Given the description of an element on the screen output the (x, y) to click on. 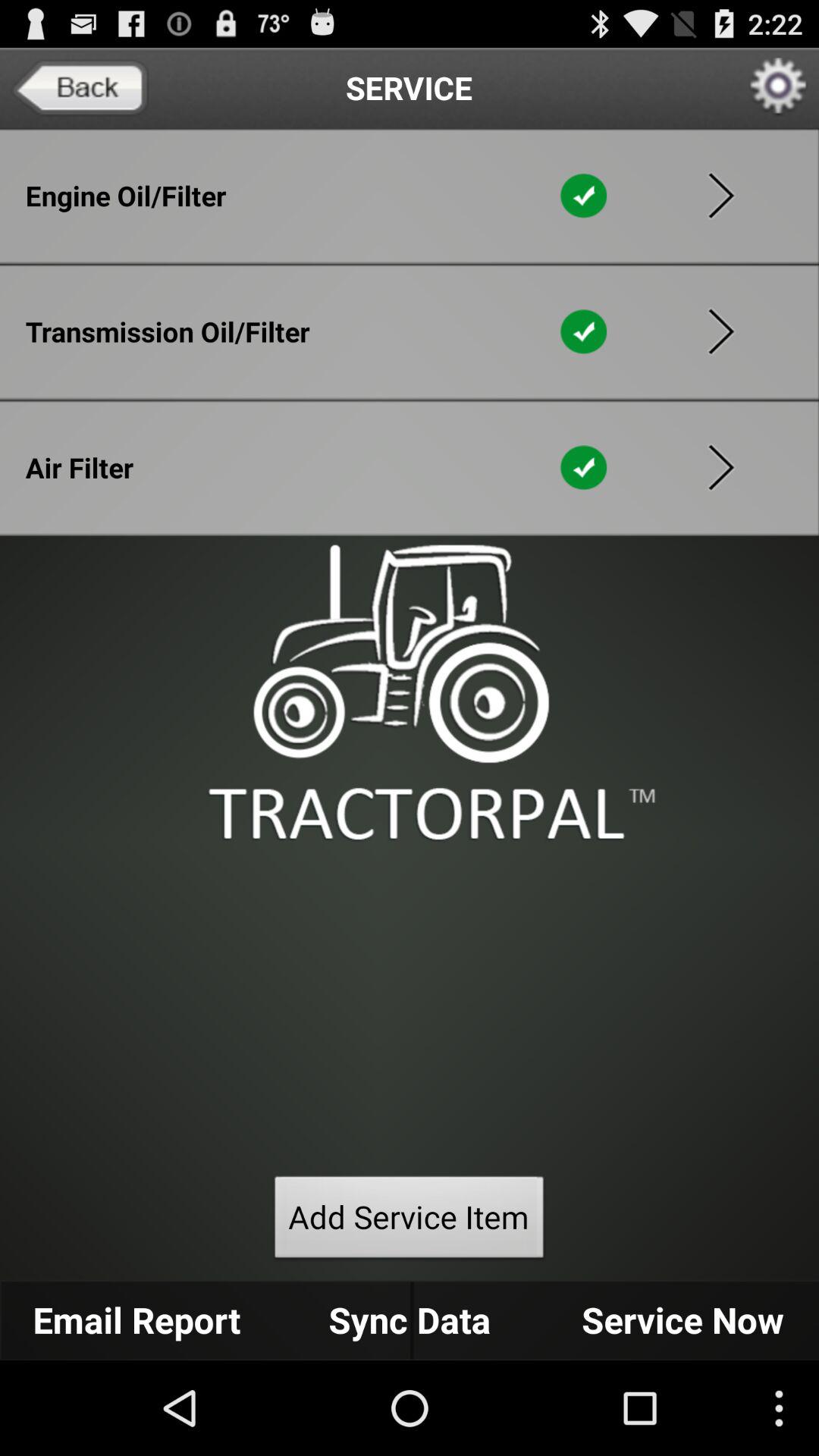
go back (79, 87)
